Given the description of an element on the screen output the (x, y) to click on. 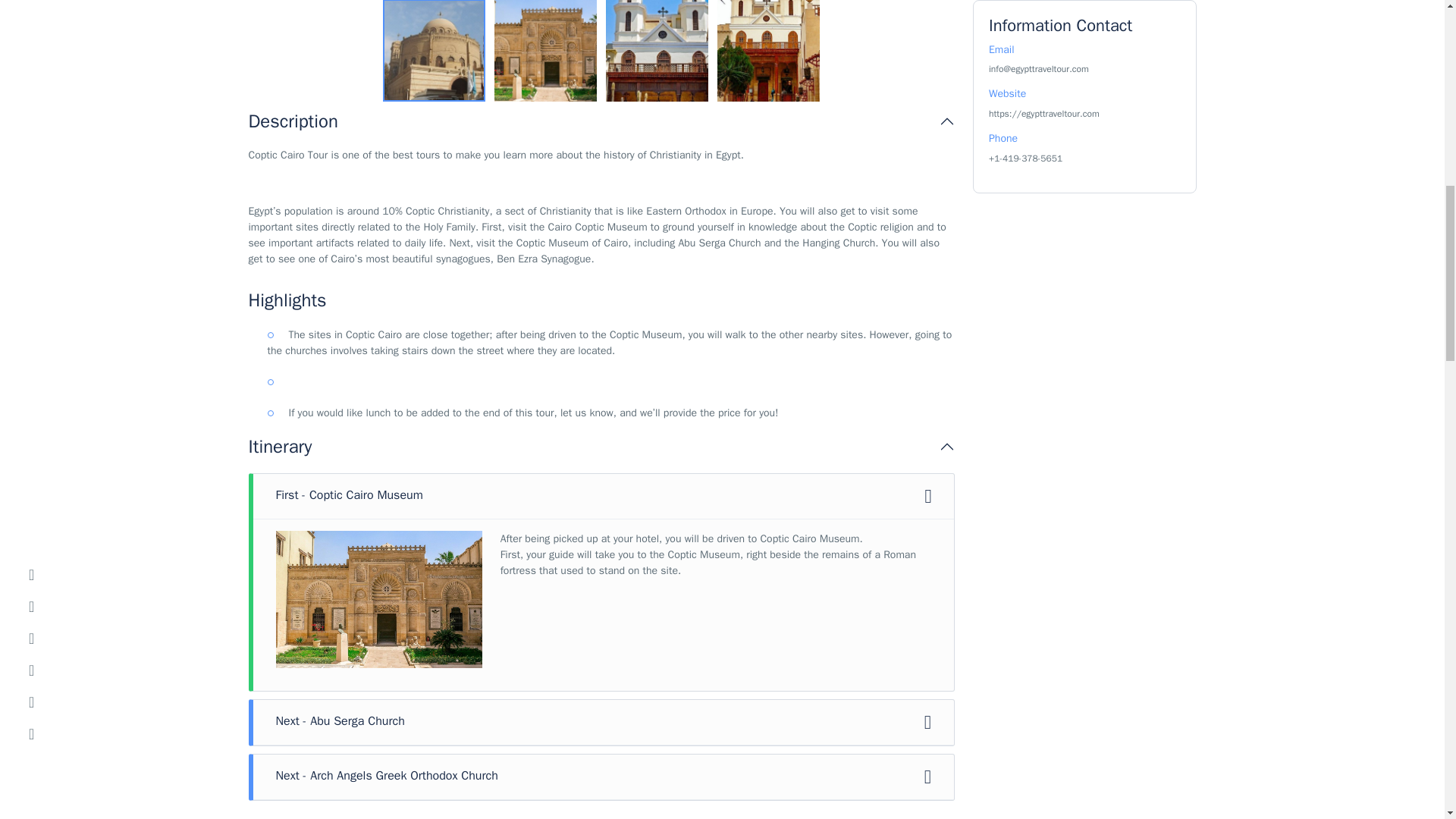
Itinerary (601, 446)
Description (601, 121)
